Given the description of an element on the screen output the (x, y) to click on. 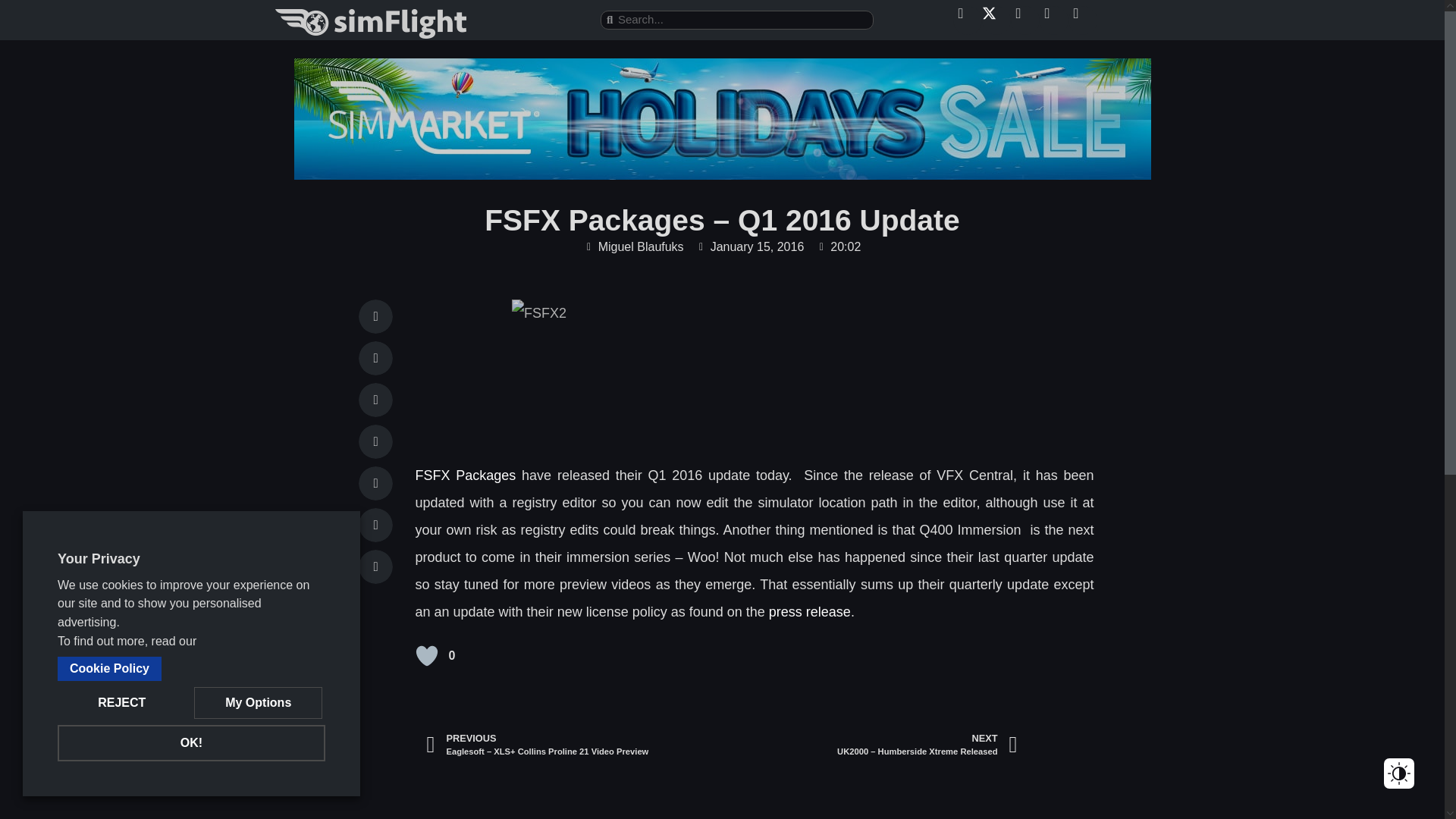
press release (807, 611)
January 15, 2016 (750, 247)
FSFX Packages (465, 475)
Miguel Blaufuks (633, 247)
